Given the description of an element on the screen output the (x, y) to click on. 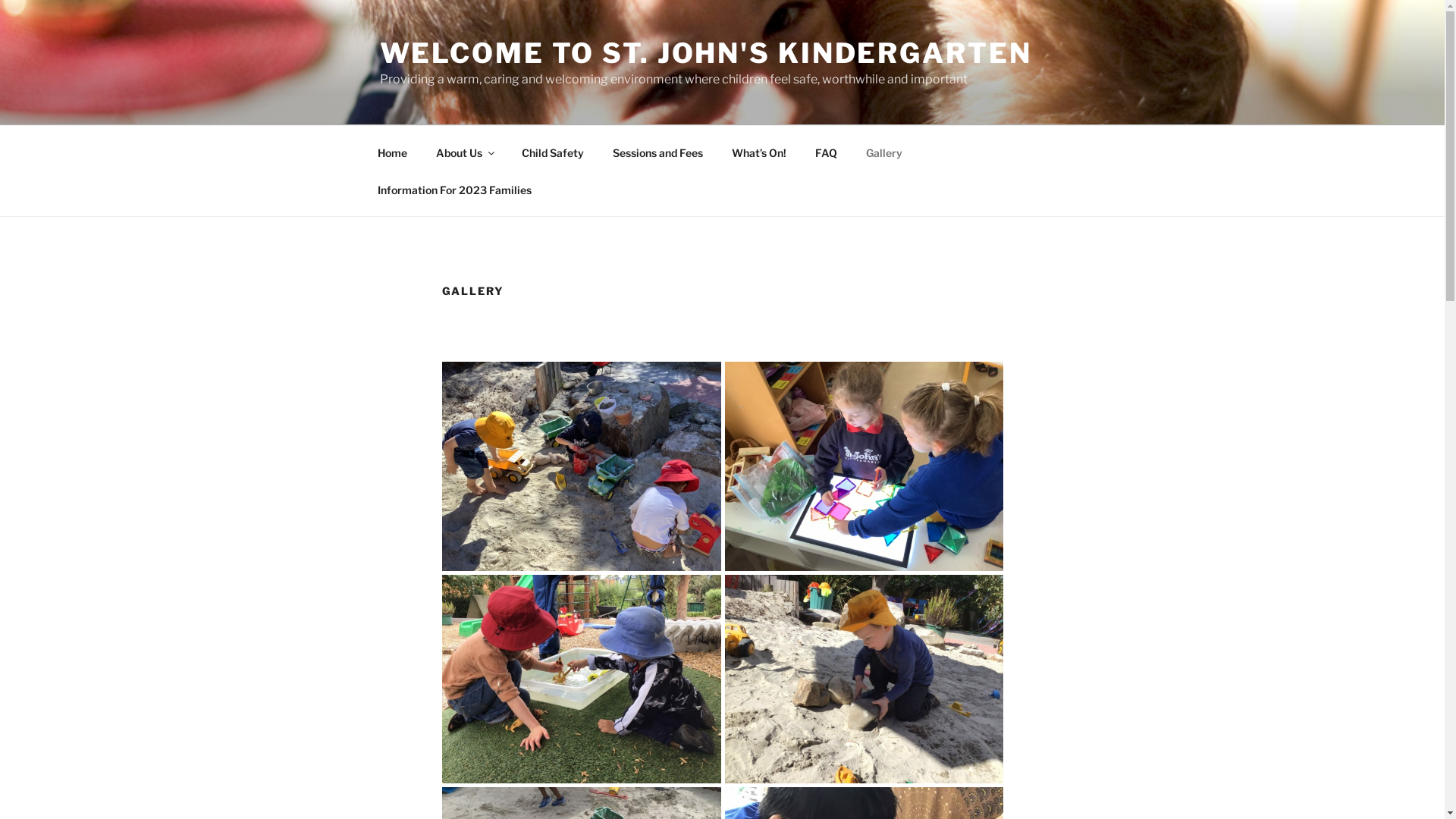
FAQ Element type: text (826, 151)
Home Element type: text (392, 151)
IMG_4690 Element type: hover (580, 679)
IMG_4953 Element type: hover (580, 466)
IMG_4650 Element type: hover (863, 679)
About Us Element type: text (464, 151)
Gallery Element type: text (883, 151)
IMG_5243 Element type: hover (863, 466)
Information For 2023 Families Element type: text (454, 189)
WELCOME TO ST. JOHN'S KINDERGARTEN Element type: text (705, 52)
Child Safety Element type: text (552, 151)
Sessions and Fees Element type: text (657, 151)
